Given the description of an element on the screen output the (x, y) to click on. 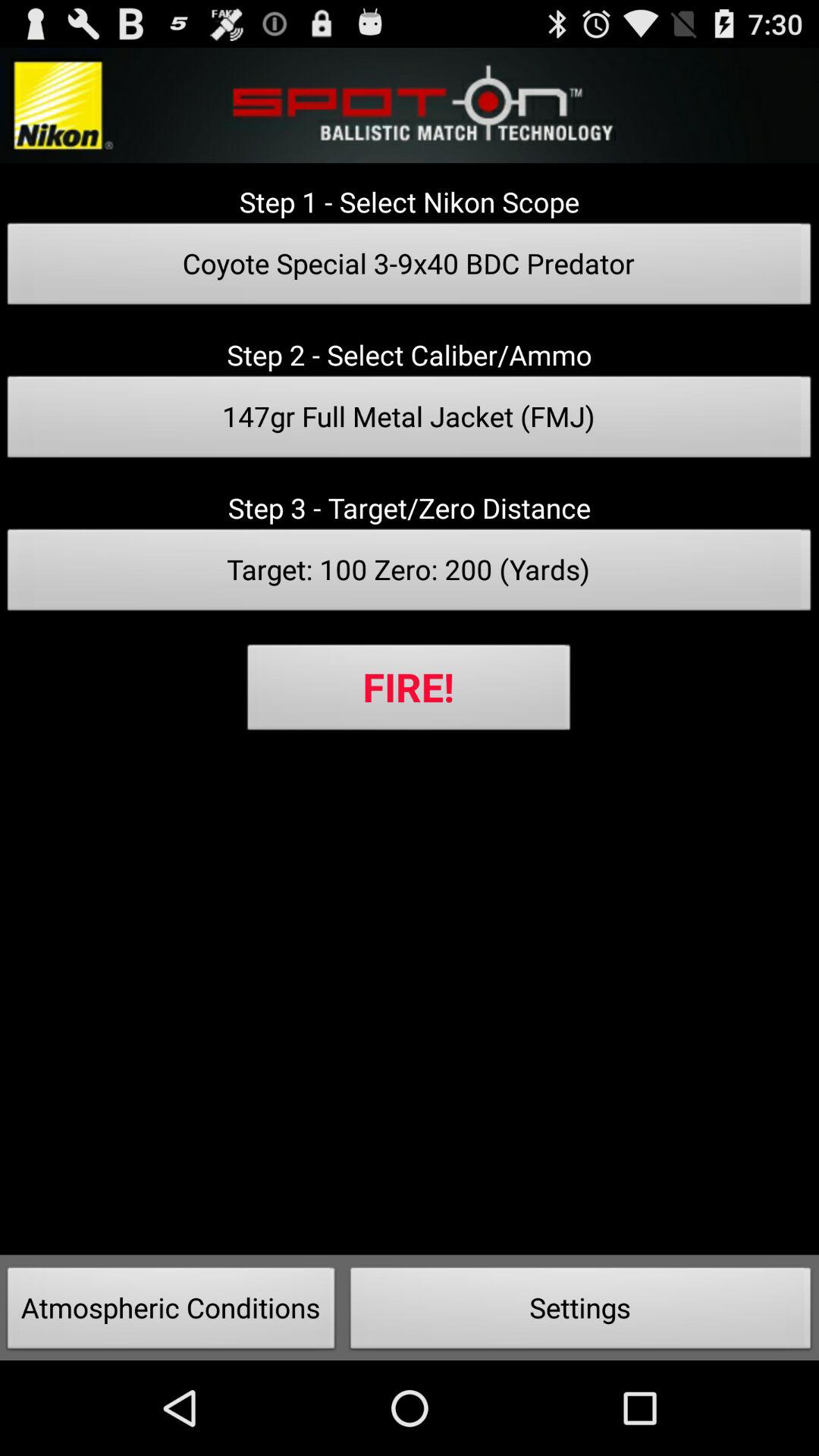
open the atmospheric conditions icon (171, 1312)
